Given the description of an element on the screen output the (x, y) to click on. 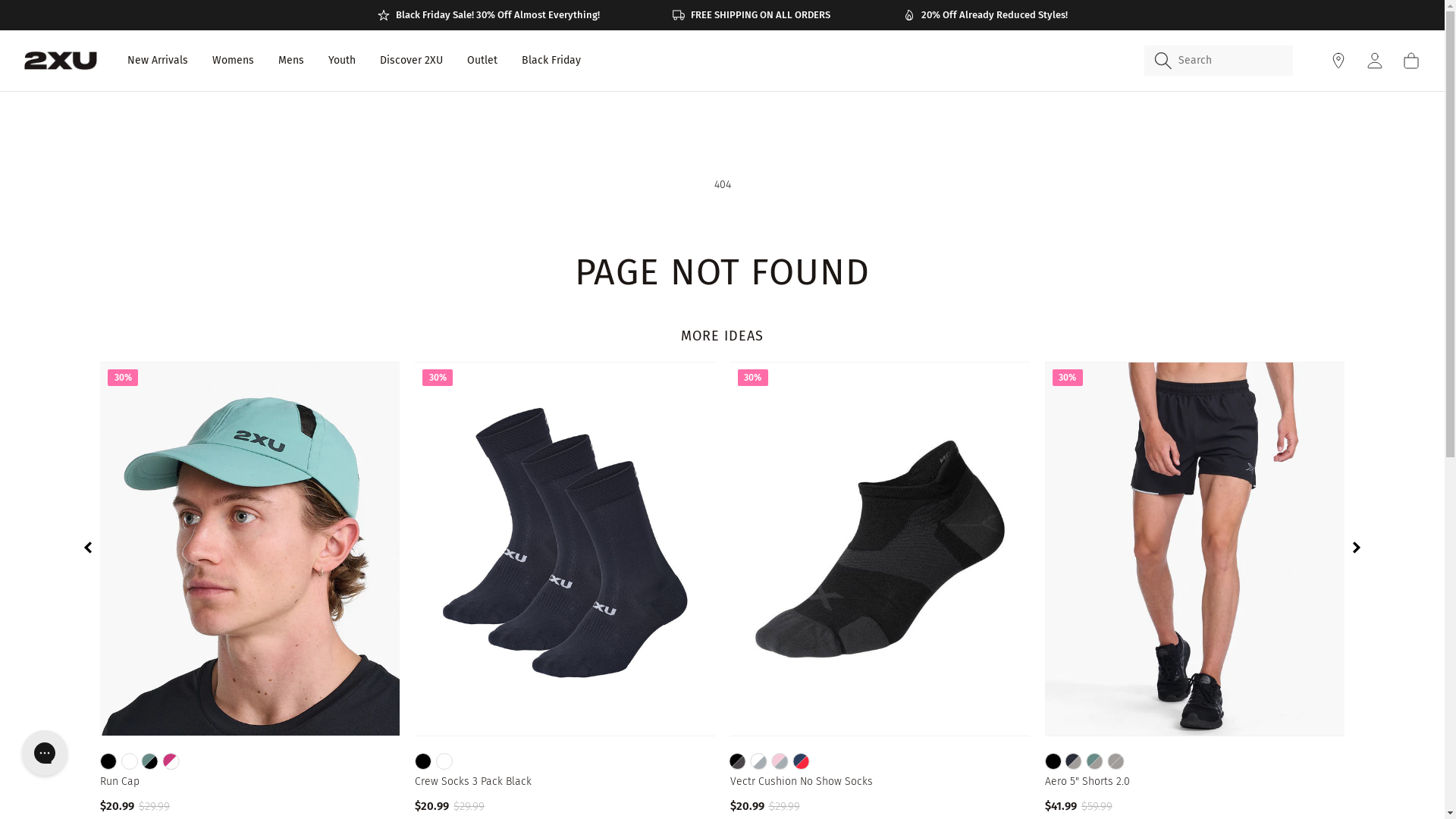
Black Friday Sale! 30% Off Almost Everything! Element type: text (488, 14)
Mens Element type: text (291, 60)
Outlet Element type: text (482, 60)
Aero 5" Shorts 2.0 Element type: text (1194, 781)
New Arrivals Element type: text (157, 60)
Discover 2XU Element type: text (411, 60)
Run Cap Element type: text (249, 781)
Gorgias live chat messenger Element type: hover (44, 752)
Black Friday Element type: text (551, 60)
Vectr Cushion No Show Socks Element type: text (879, 781)
Crew Socks 3 Pack Black Element type: text (564, 781)
20% Off Already Reduced Styles! Element type: text (984, 14)
Login Element type: text (1374, 60)
Youth Element type: text (341, 60)
Cart Element type: text (1411, 60)
Womens Element type: text (233, 60)
